Given the description of an element on the screen output the (x, y) to click on. 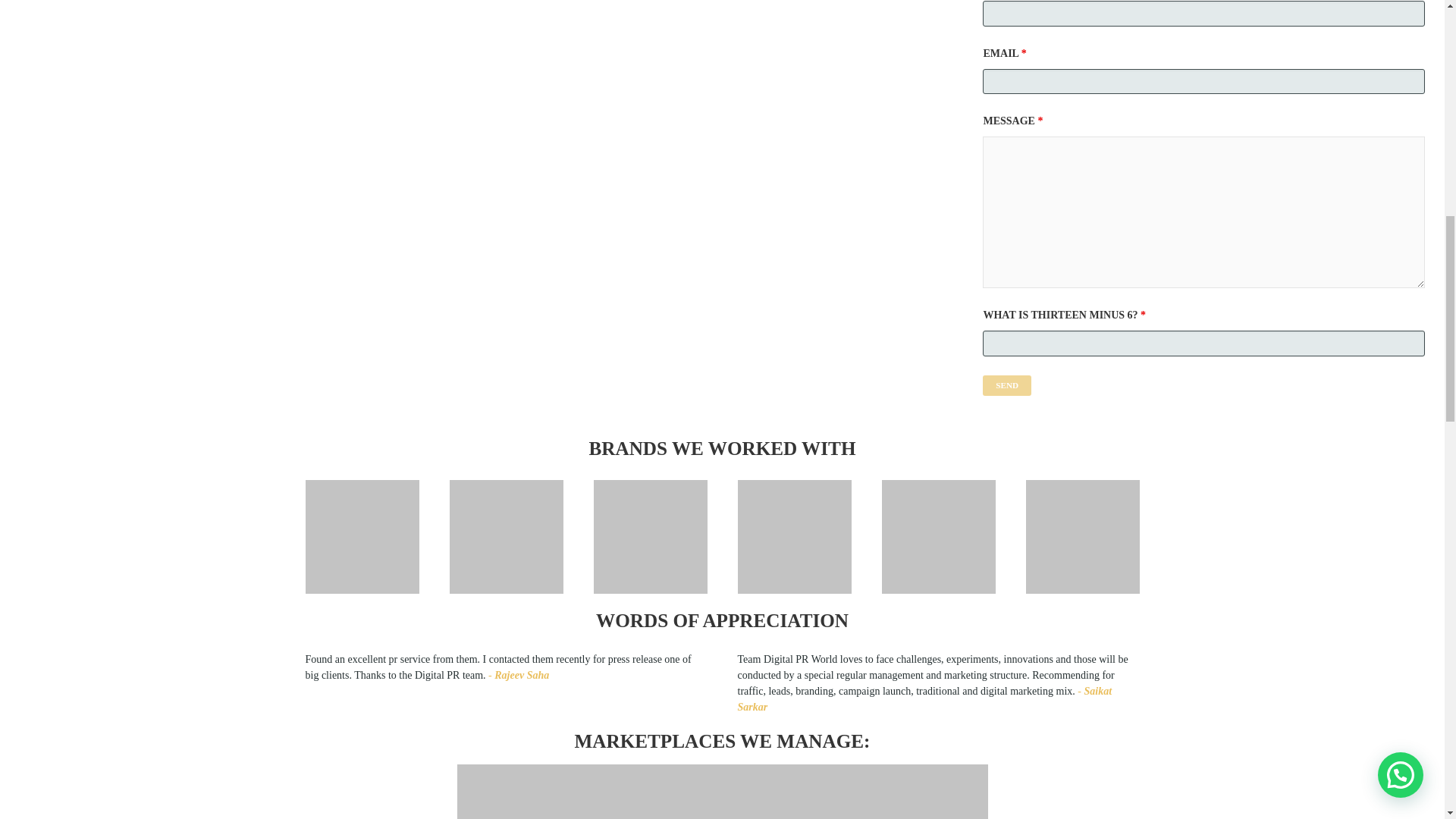
Send (1006, 384)
